Given the description of an element on the screen output the (x, y) to click on. 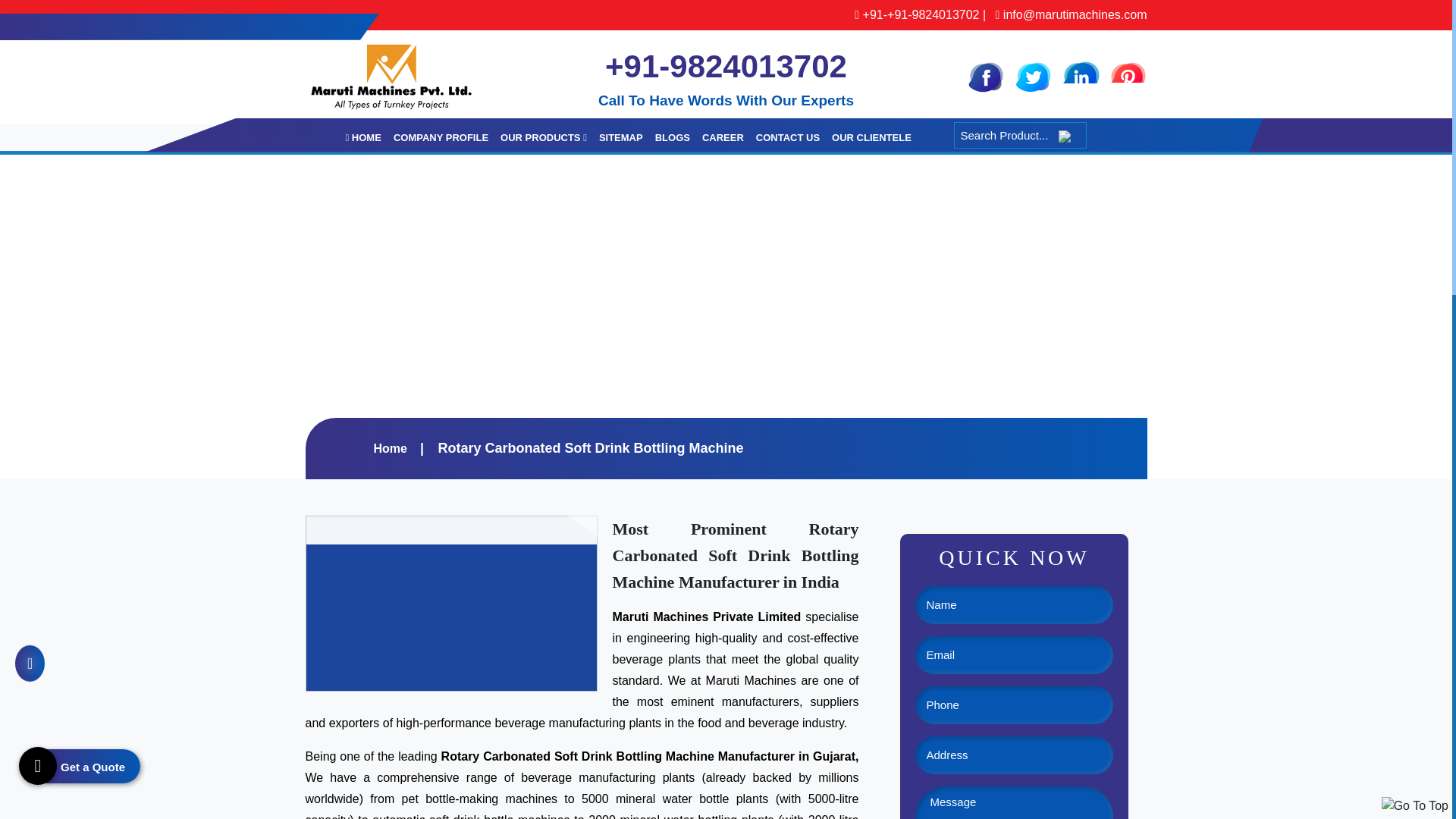
COMPANY PROFILE (441, 137)
Home (389, 448)
HOME (363, 137)
OUR PRODUCTS (543, 137)
